Given the description of an element on the screen output the (x, y) to click on. 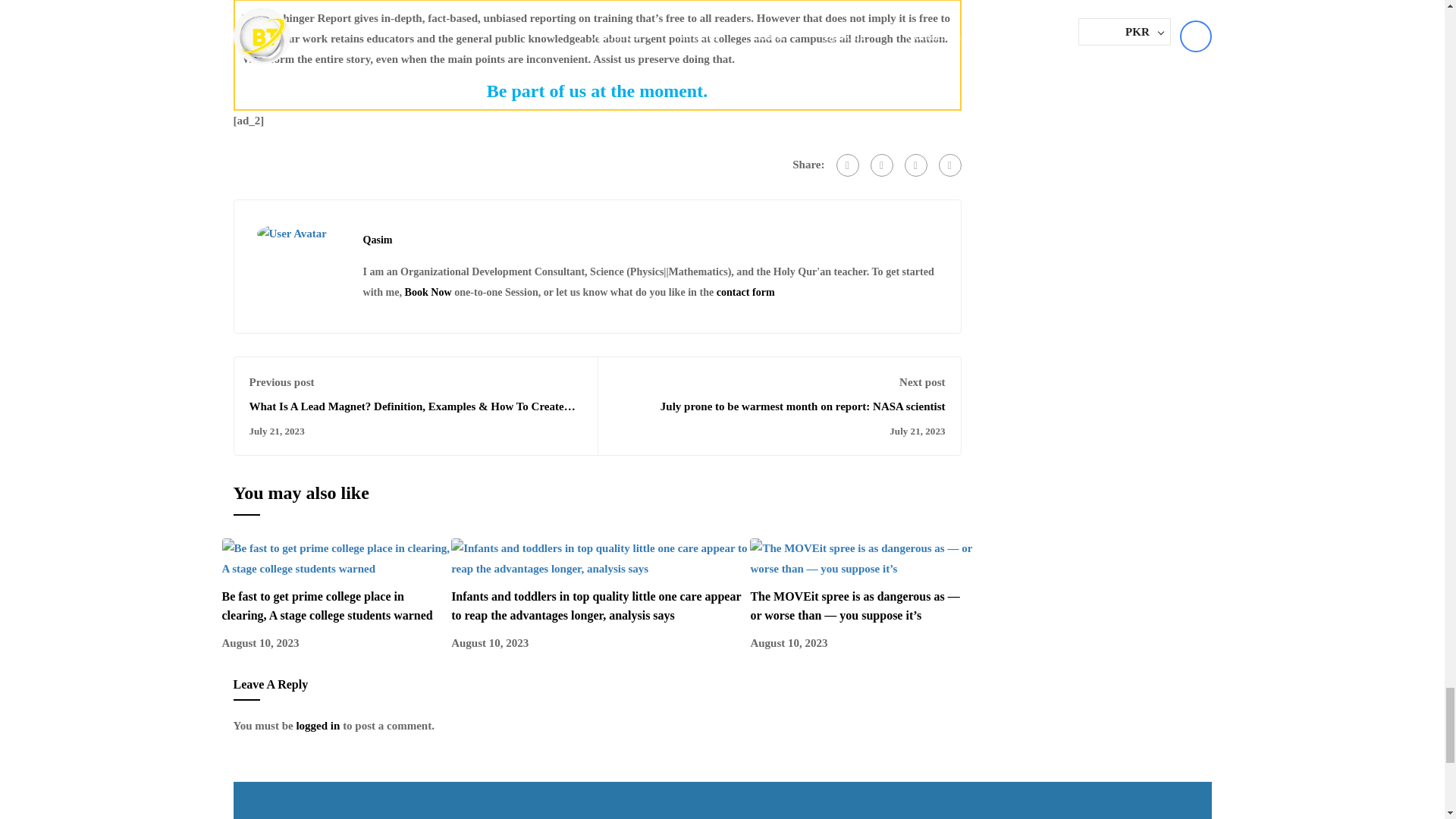
Twitter (881, 164)
Pinterest (915, 164)
Facebook (847, 164)
